Given the description of an element on the screen output the (x, y) to click on. 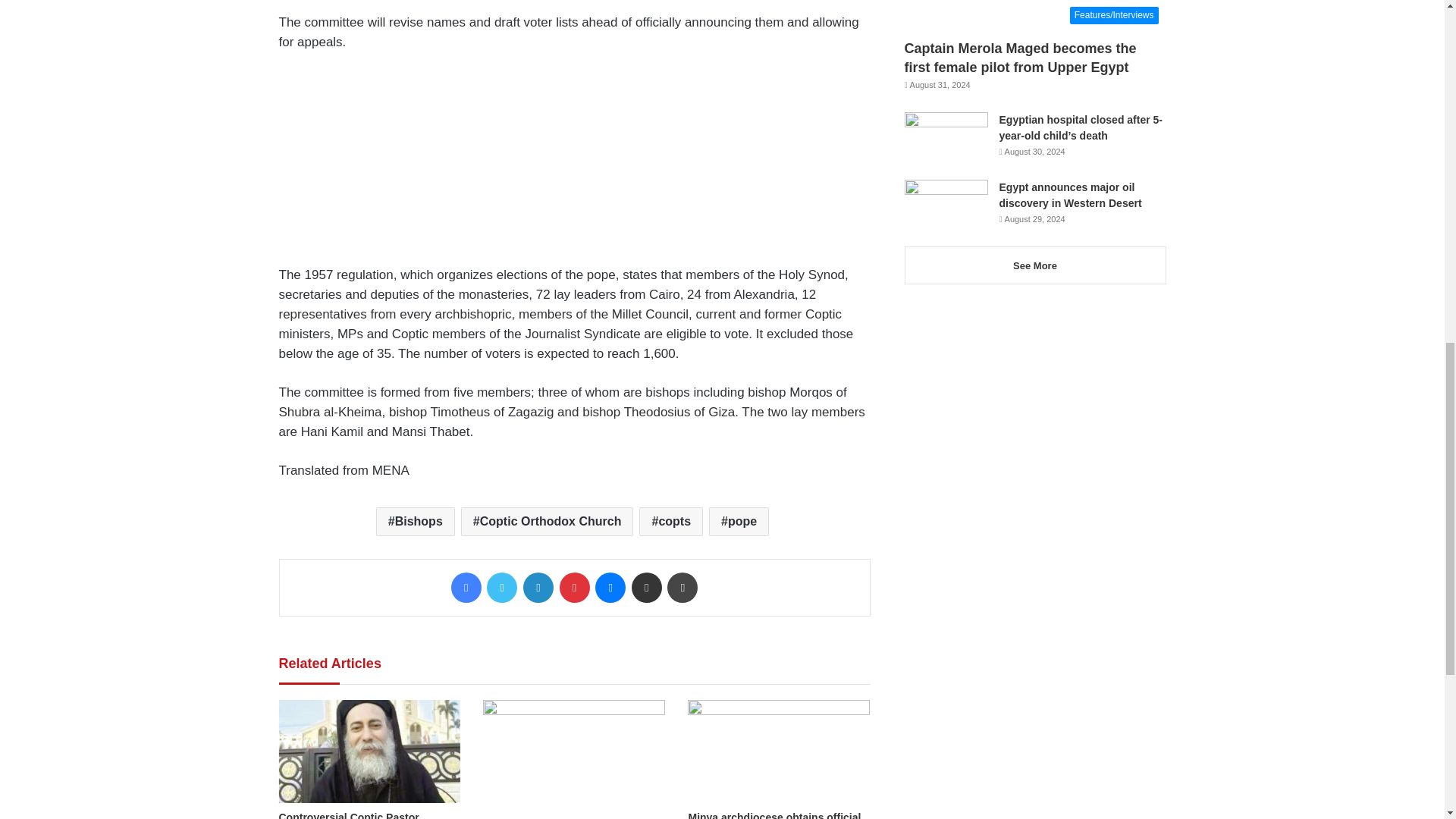
Facebook (466, 587)
Pinterest (574, 587)
Share via Email (646, 587)
pope (738, 521)
copts (671, 521)
Pinterest (574, 587)
Bishops (414, 521)
Coptic Orthodox Church (547, 521)
LinkedIn (537, 587)
Print (681, 587)
